Given the description of an element on the screen output the (x, y) to click on. 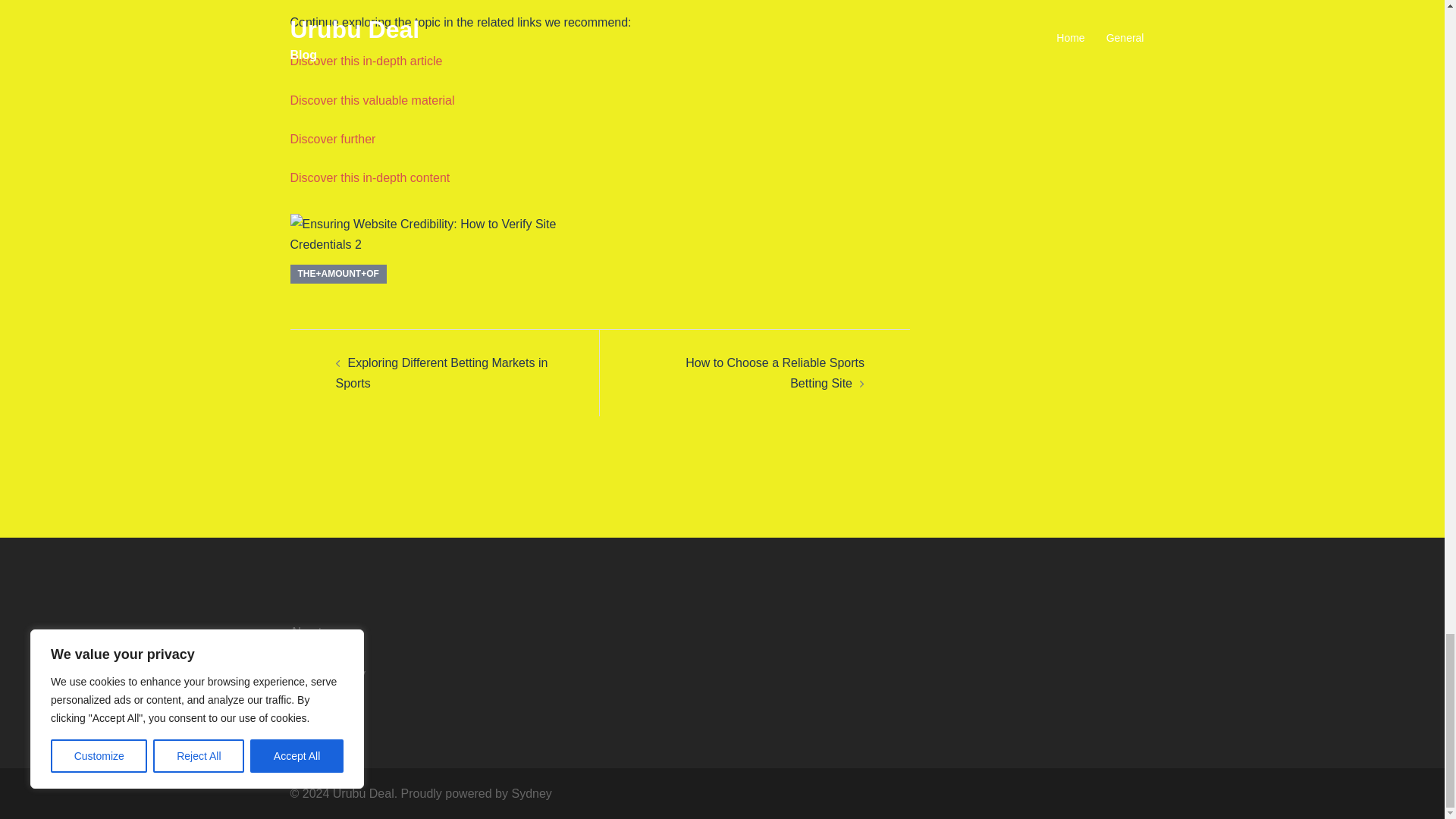
Discover this in-depth content (369, 177)
Discover further (332, 138)
Discover this valuable material (371, 100)
Discover this in-depth article (365, 60)
How to Choose a Reliable Sports Betting Site (774, 372)
Exploring Different Betting Markets in Sports (440, 372)
